Given the description of an element on the screen output the (x, y) to click on. 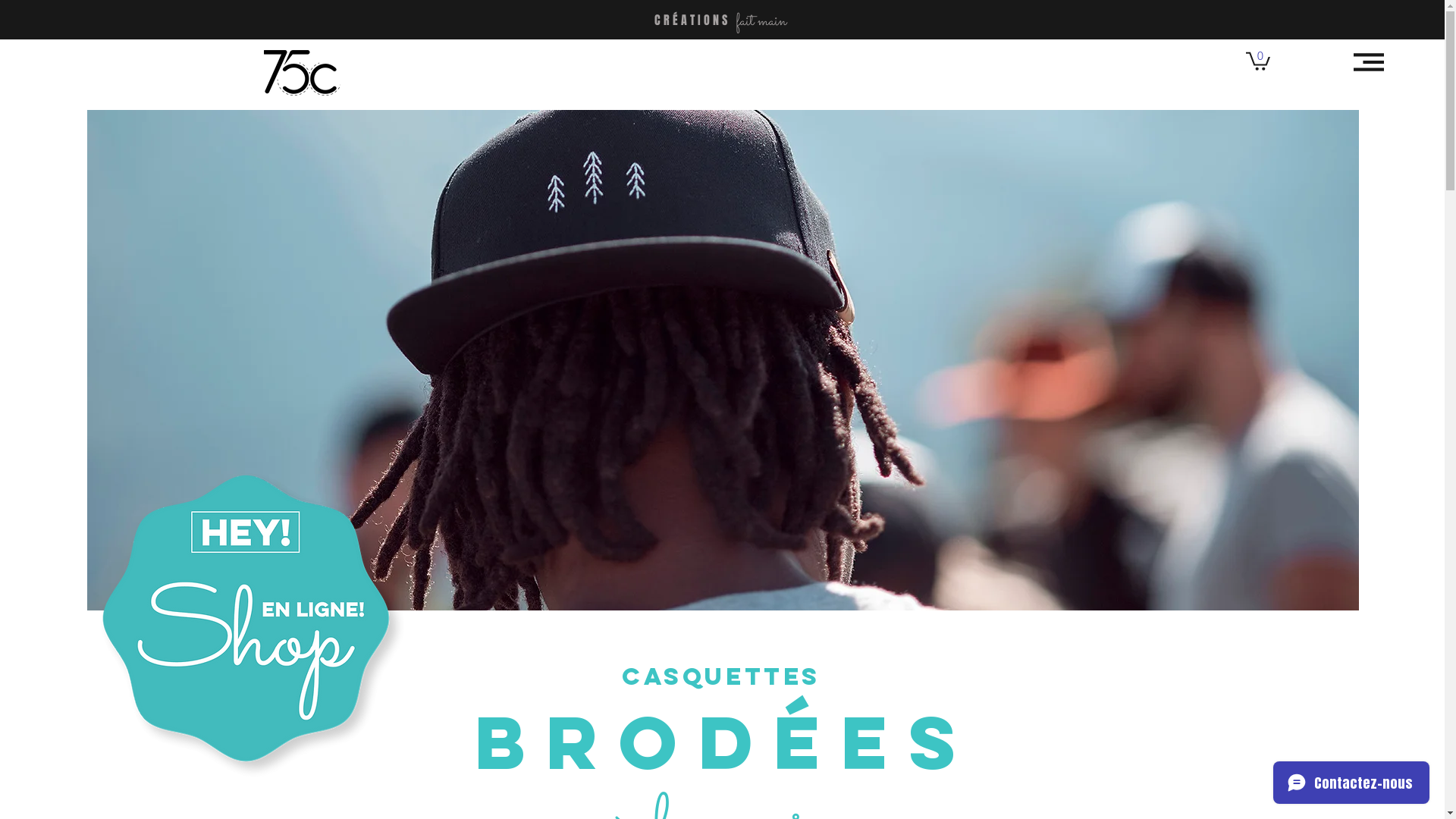
TWIPLA (Visitor Analytics) Element type: hover (1440, 4)
TWIPLA (Visitor Analytics) Element type: hover (1101, 505)
0 Element type: text (1257, 60)
